Given the description of an element on the screen output the (x, y) to click on. 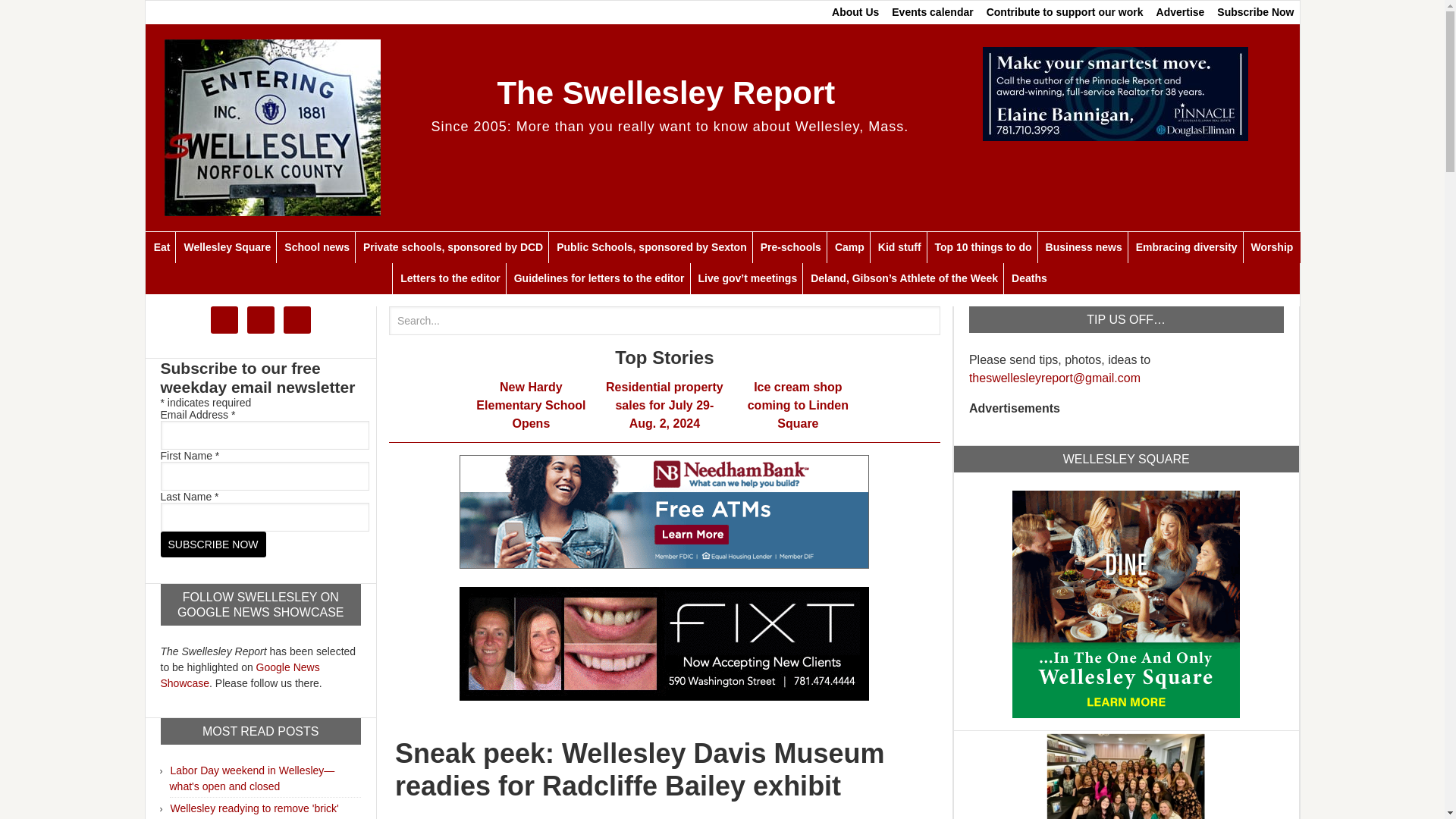
Wellesley Square (1125, 602)
Guidelines for letters to the editor (599, 278)
Top 10 things to do (982, 246)
Letters to the editor (448, 278)
Subscribe Now (1255, 12)
Ice cream shop coming to Linden Square (798, 404)
Advertise (1180, 12)
Residential property sales for July 29-Aug. 2, 2024 (664, 404)
Camp (849, 246)
